Given the description of an element on the screen output the (x, y) to click on. 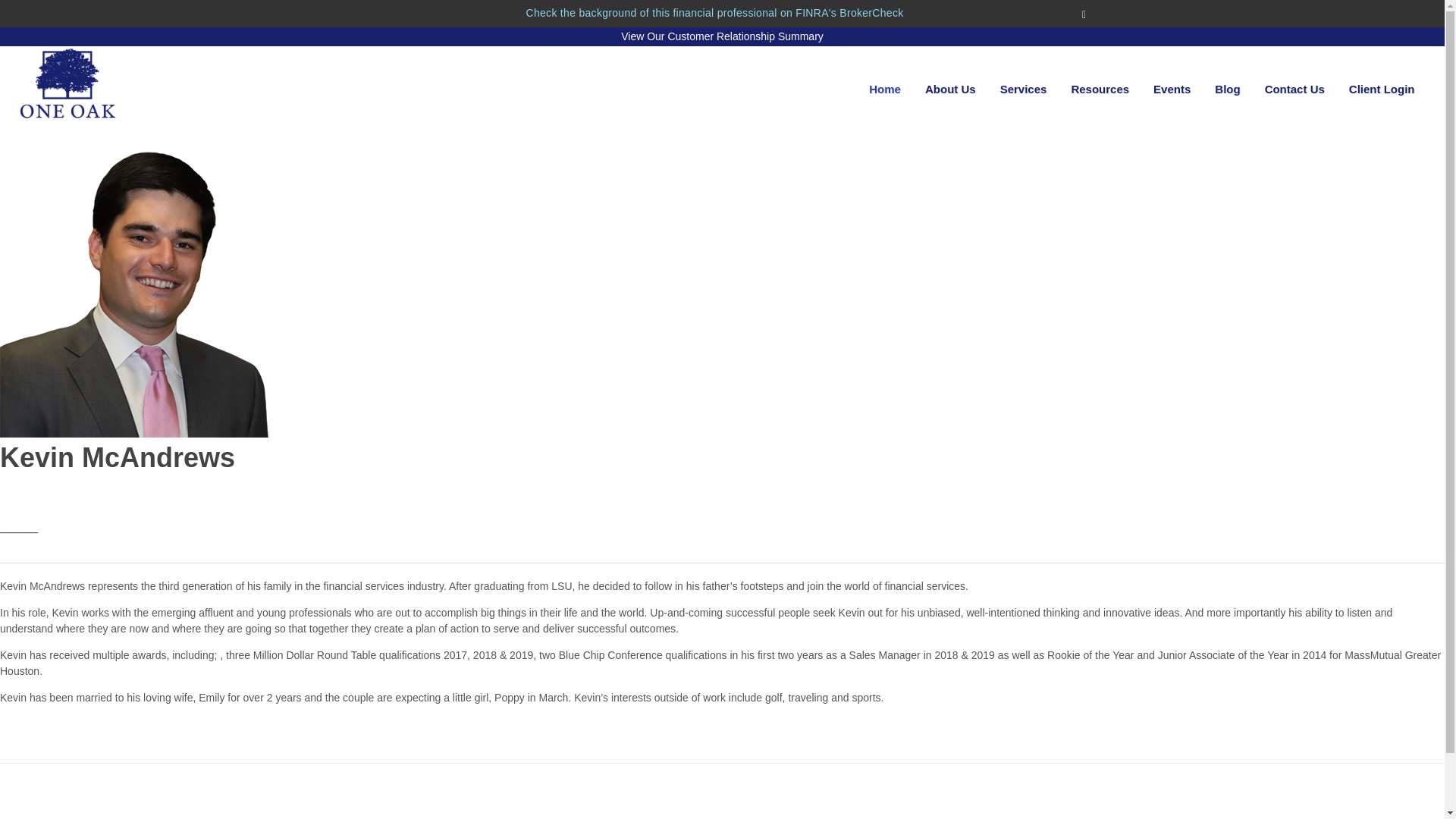
Resources (1099, 89)
View Our Customer Relationship Summary (722, 36)
Client Login (1382, 89)
About Us (950, 89)
Contact Us (1294, 89)
Services (1023, 89)
